Given the description of an element on the screen output the (x, y) to click on. 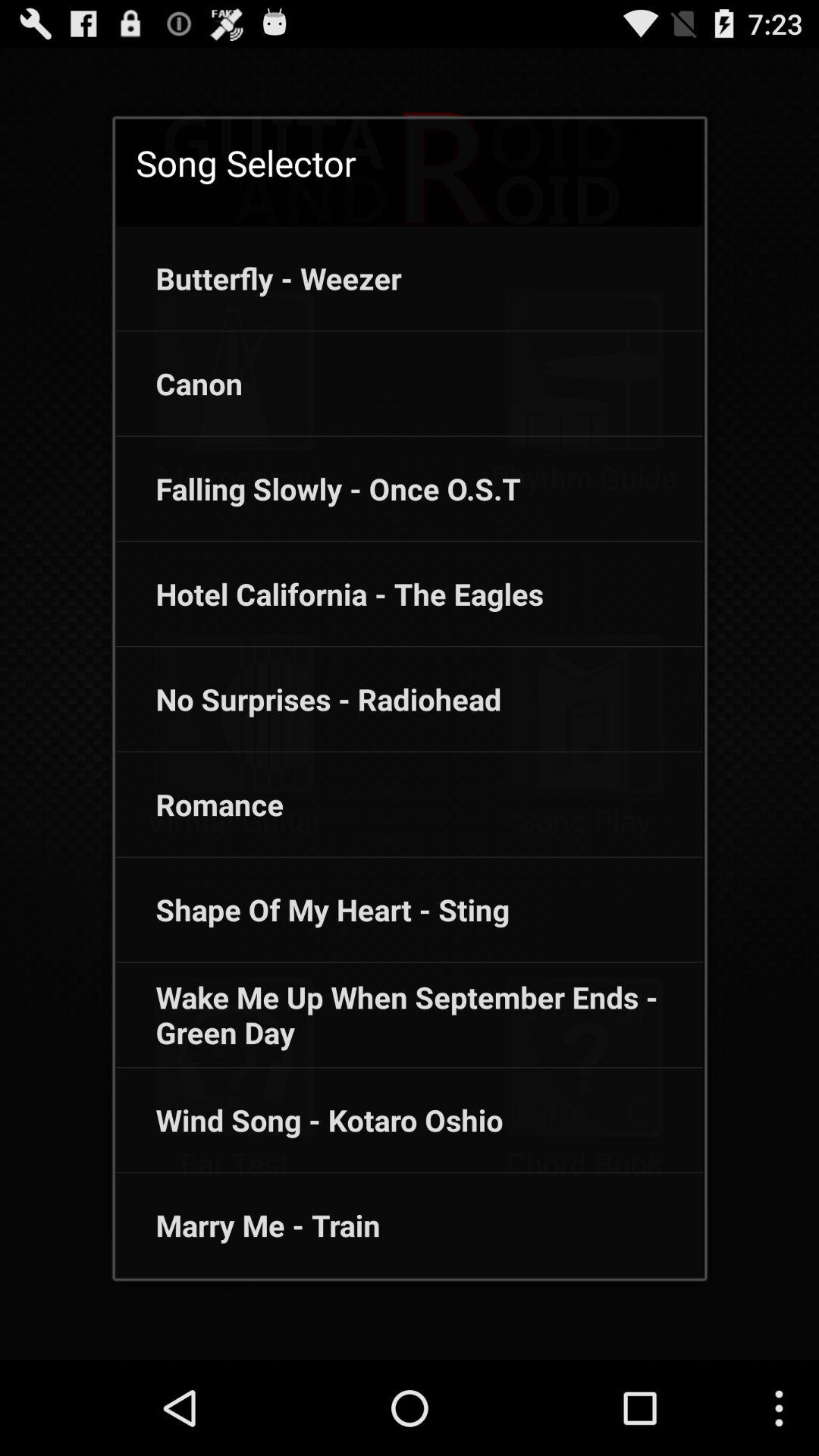
turn off item below the song selector item (258, 278)
